Given the description of an element on the screen output the (x, y) to click on. 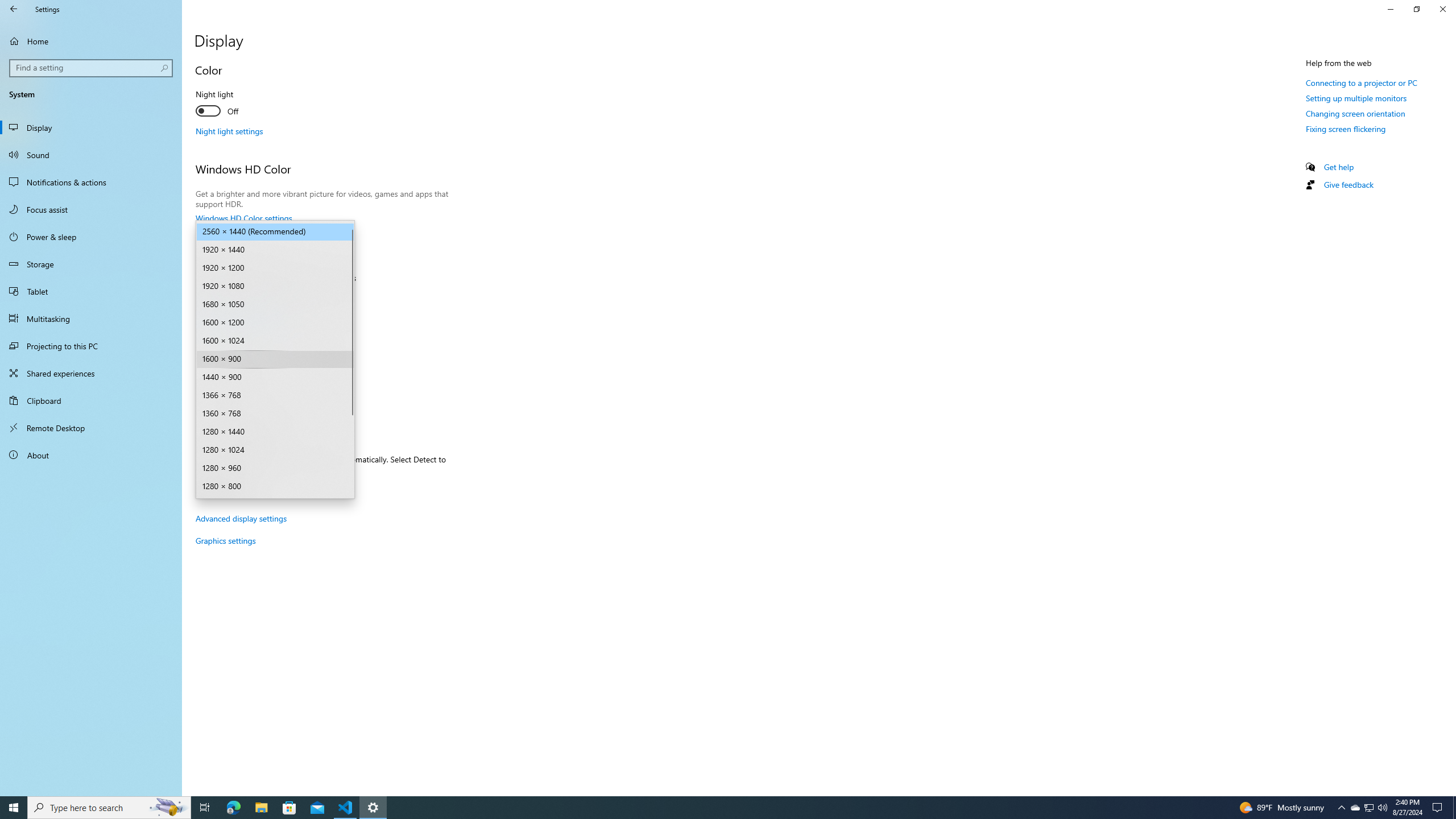
About (91, 454)
100% (Recommended) (269, 296)
Search box, Find a setting (91, 67)
Close Settings (1442, 9)
Detect (221, 488)
Sound (91, 154)
